Given the description of an element on the screen output the (x, y) to click on. 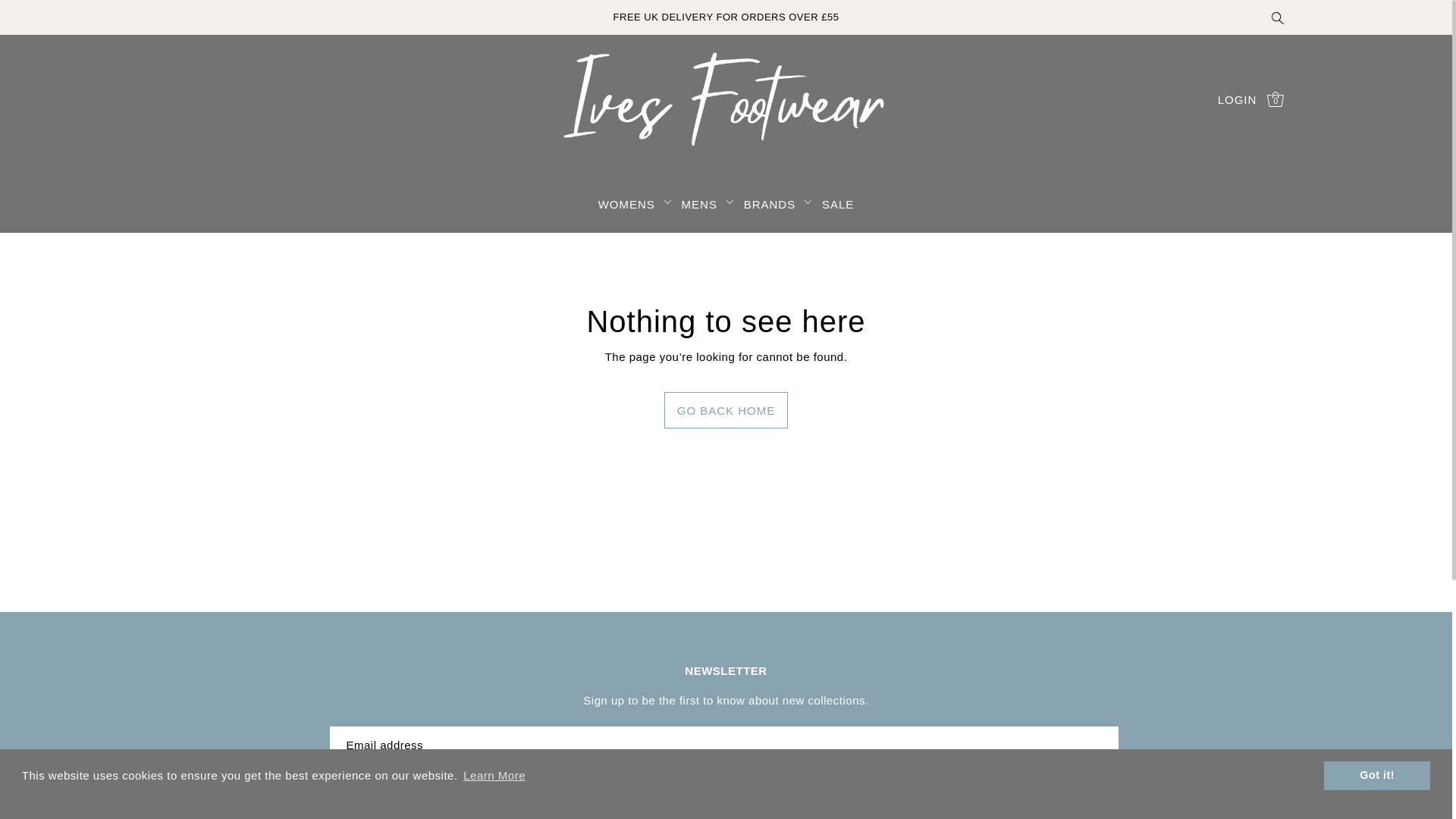
Learn More (494, 775)
Got it! (1376, 775)
